Given the description of an element on the screen output the (x, y) to click on. 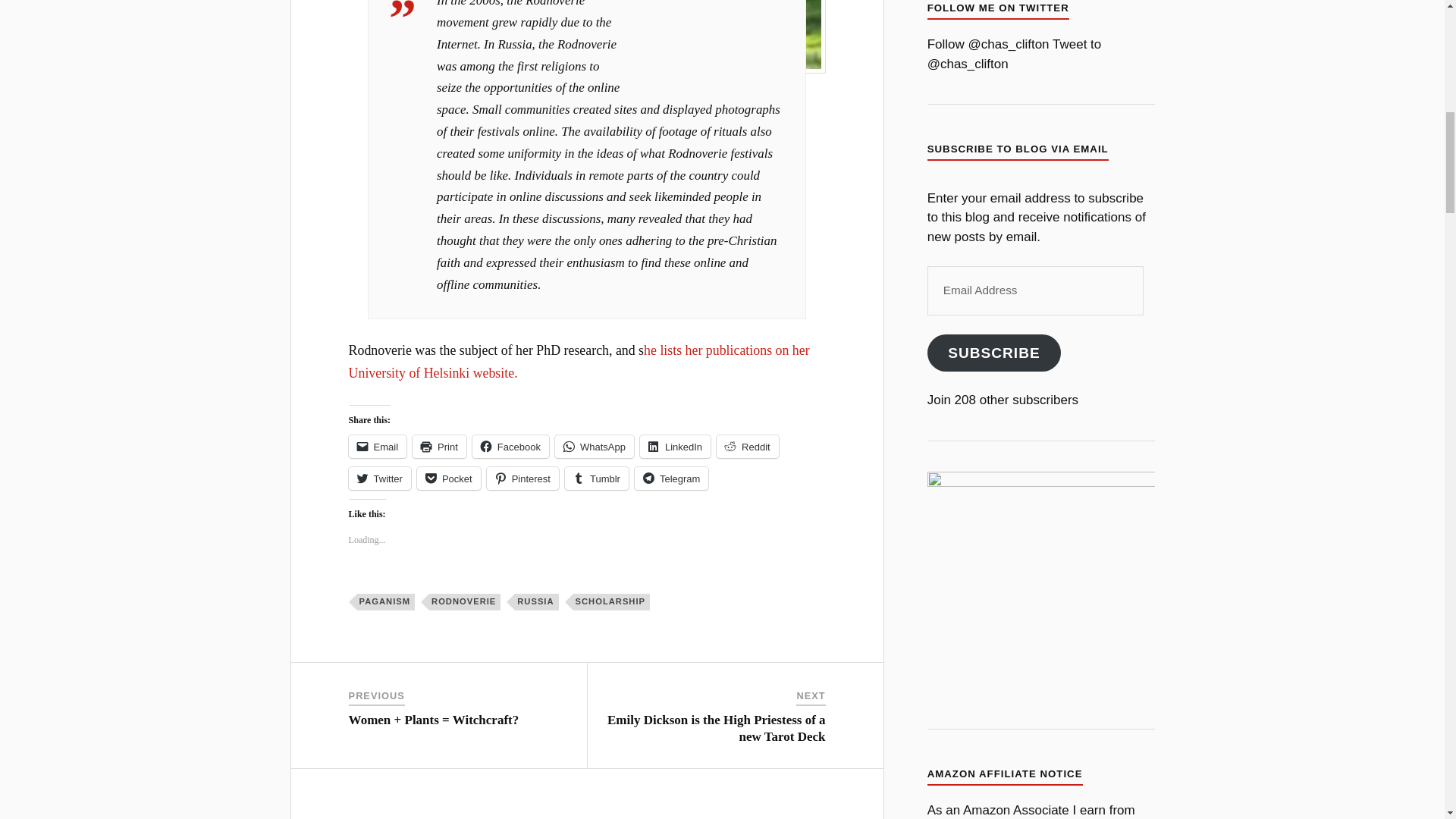
Click to share on LinkedIn (675, 445)
Click to email a link to a friend (378, 445)
Click to share on Twitter (379, 477)
Print (438, 445)
RODNOVERIE (464, 601)
Click to share on WhatsApp (593, 445)
Click to share on Pinterest (522, 477)
Click to print (438, 445)
Click to share on Reddit (747, 445)
Pocket (448, 477)
